Given the description of an element on the screen output the (x, y) to click on. 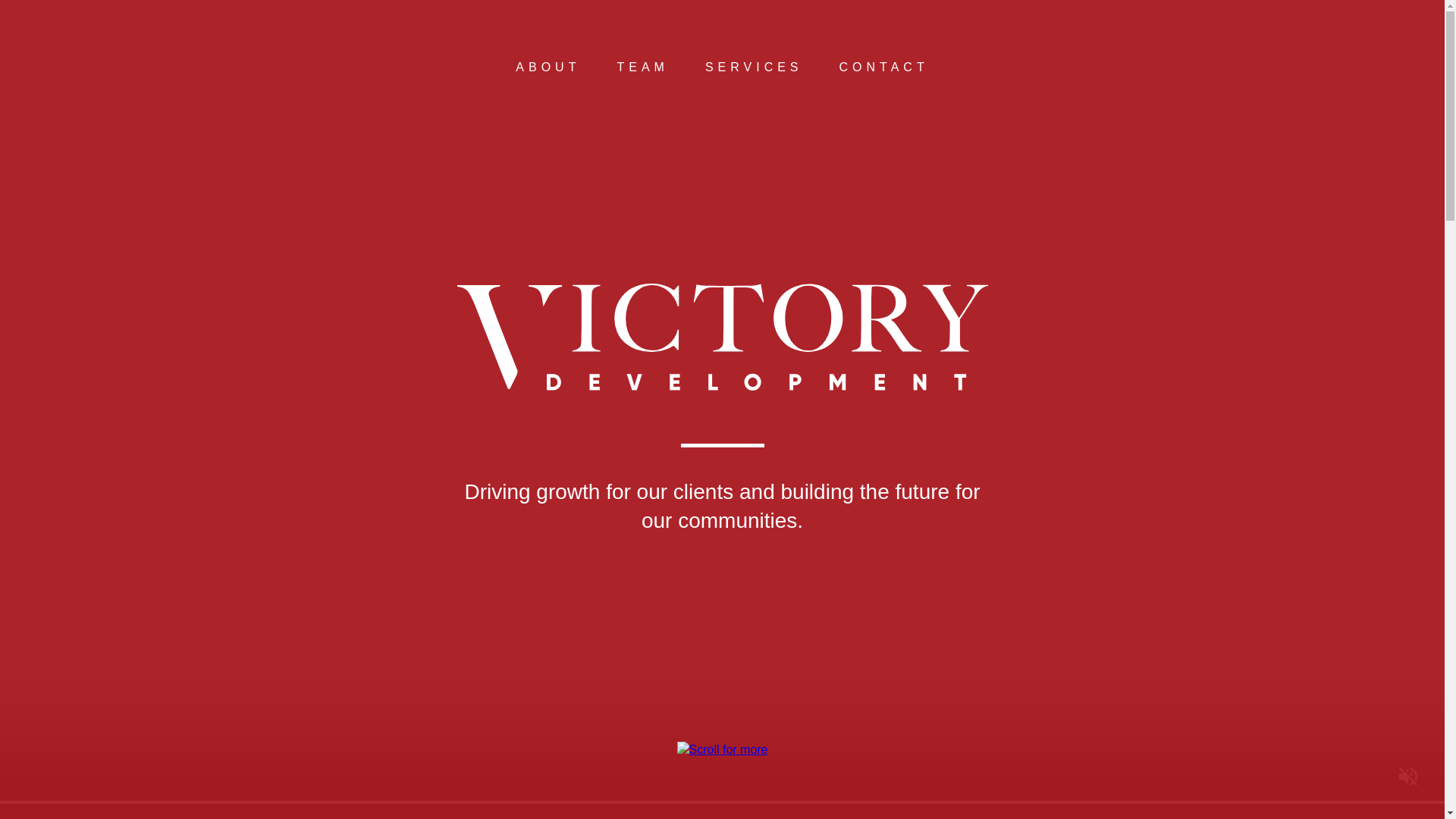
SERVICES (753, 67)
ABOUT (547, 67)
TEAM (641, 67)
CONTACT (884, 67)
